Given the description of an element on the screen output the (x, y) to click on. 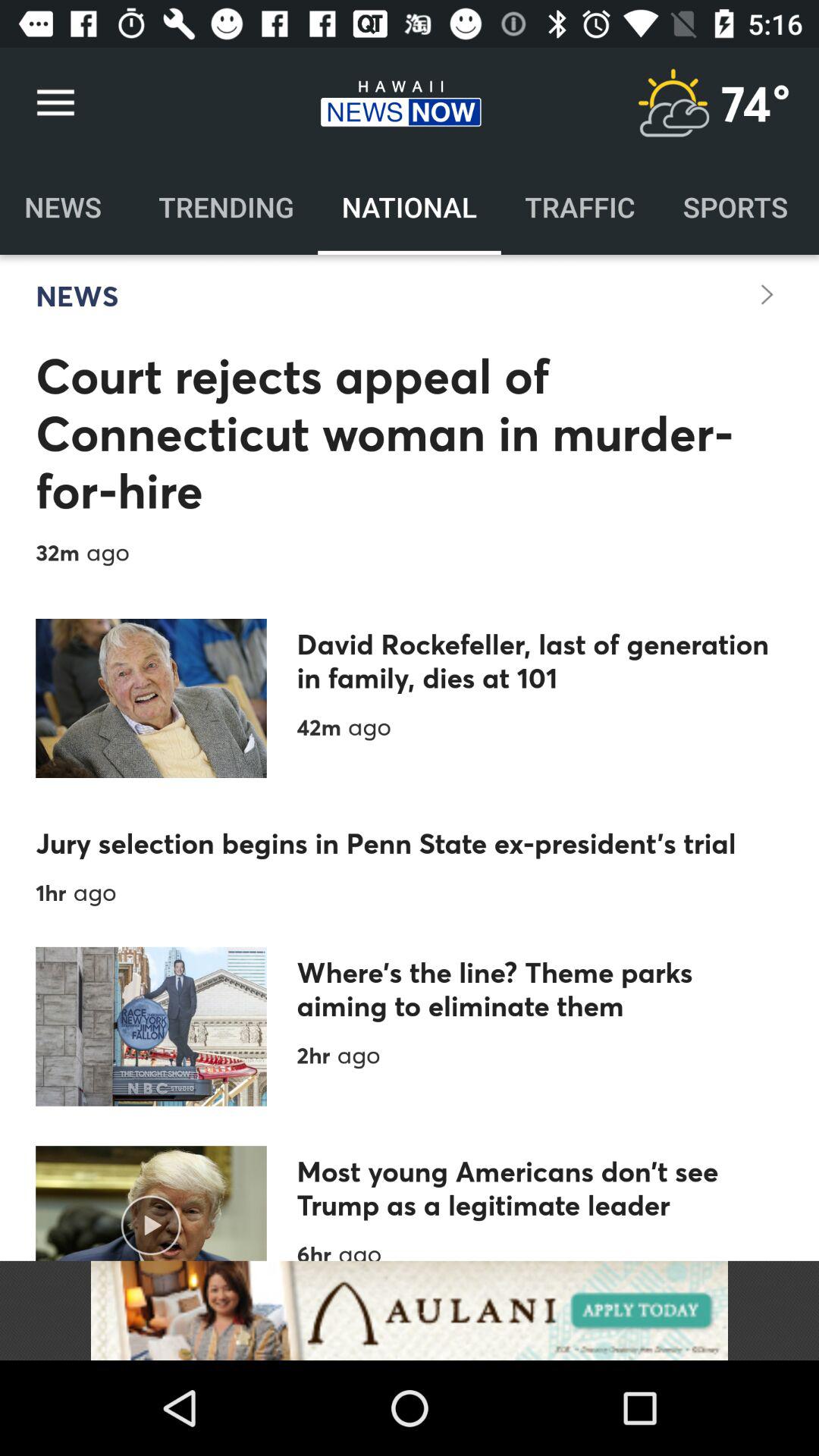
like the add (409, 1310)
